Given the description of an element on the screen output the (x, y) to click on. 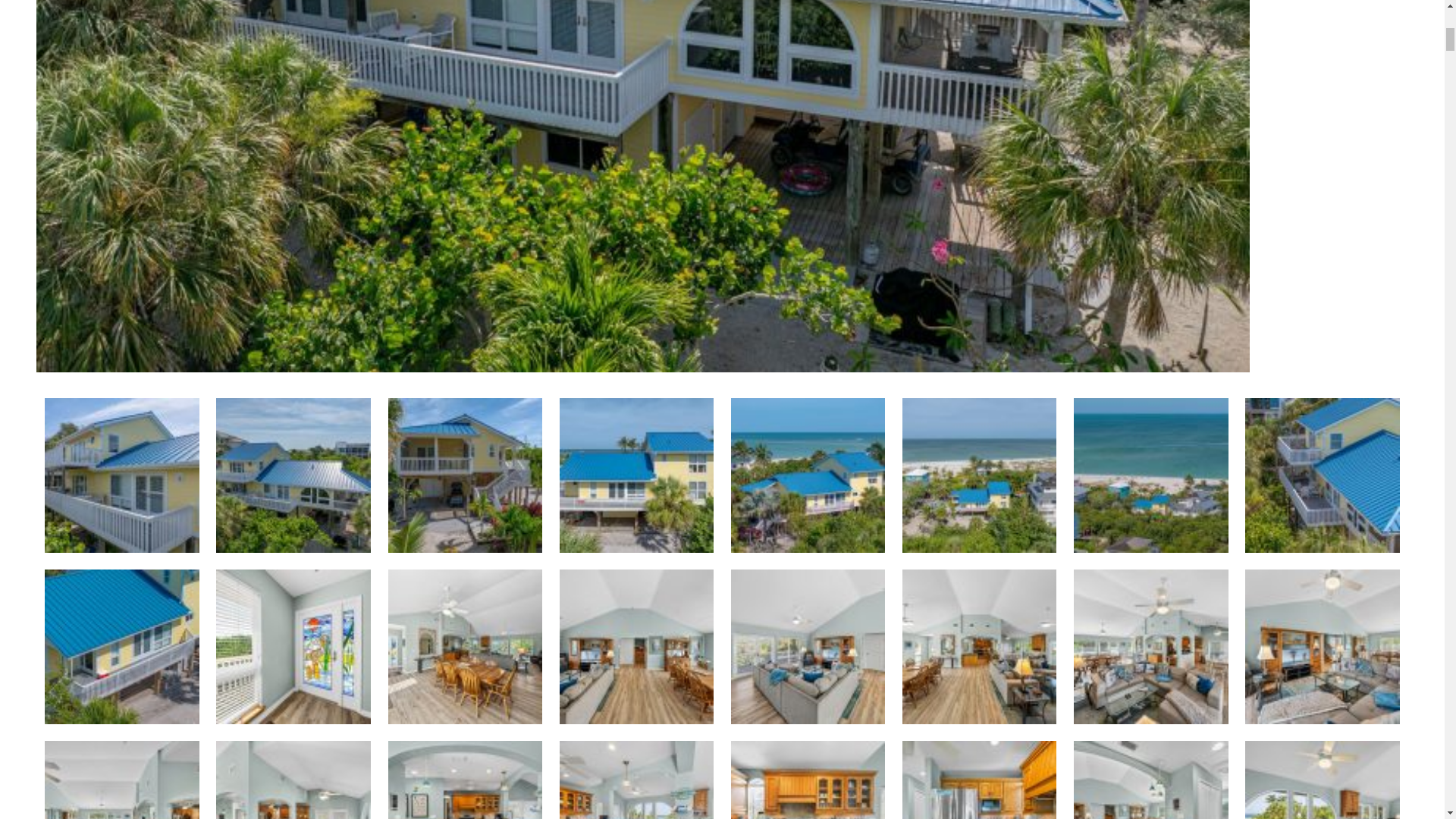
default (636, 475)
default (1151, 475)
default (465, 475)
default (1321, 475)
default (293, 475)
default (979, 475)
default (122, 475)
default (807, 475)
